Given the description of an element on the screen output the (x, y) to click on. 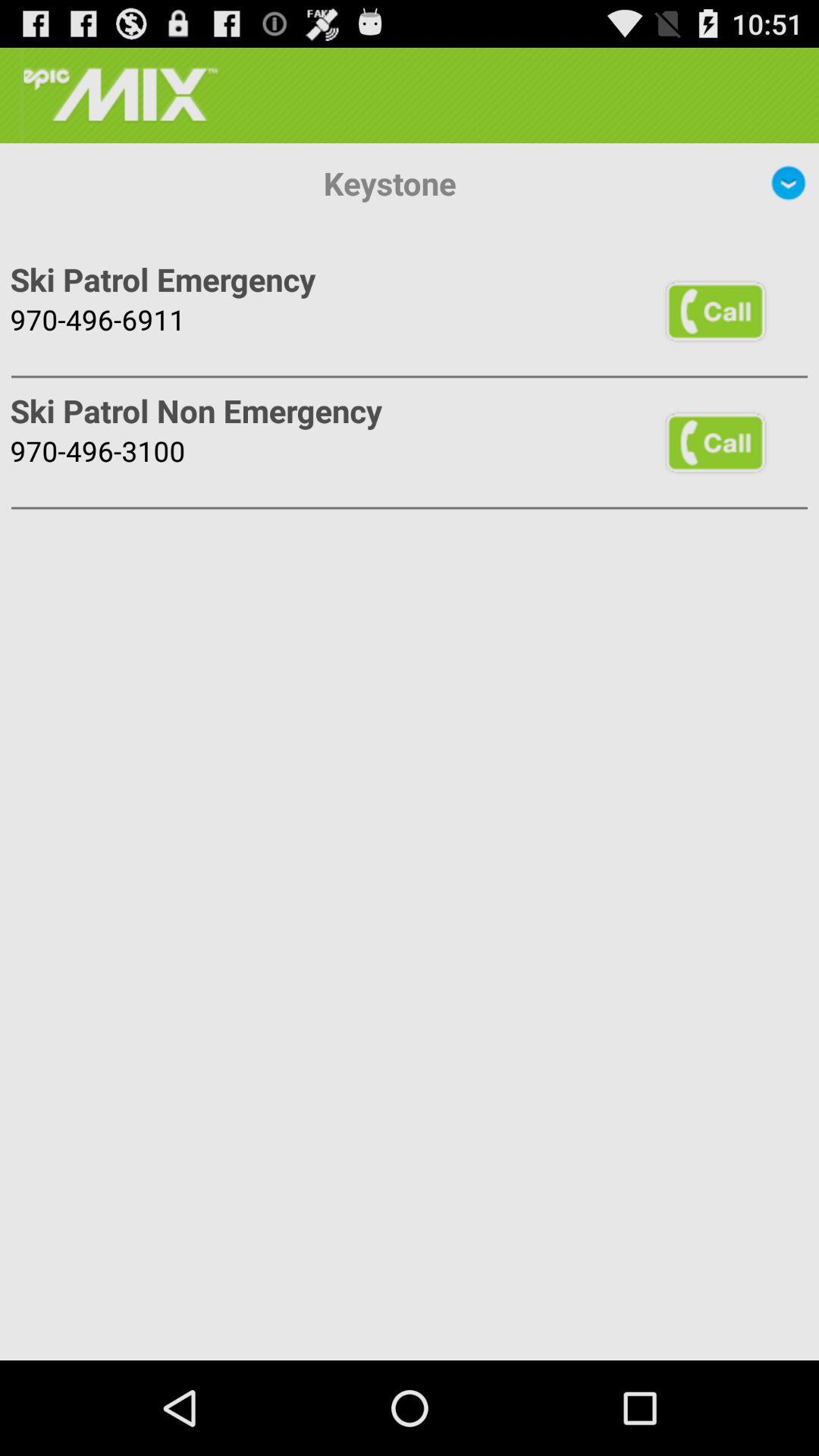
press icon next to ski patrol emergency (714, 310)
